Given the description of an element on the screen output the (x, y) to click on. 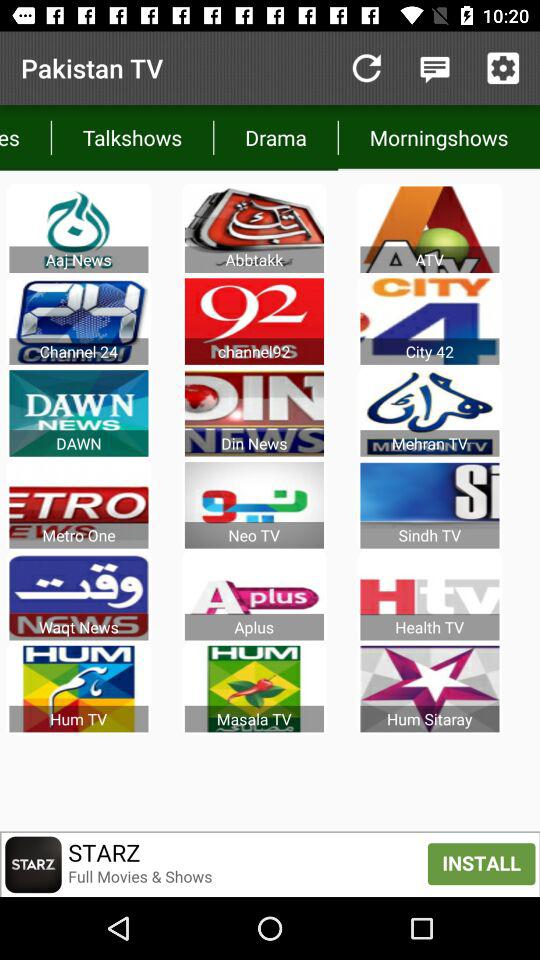
page relode proces (366, 67)
